Given the description of an element on the screen output the (x, y) to click on. 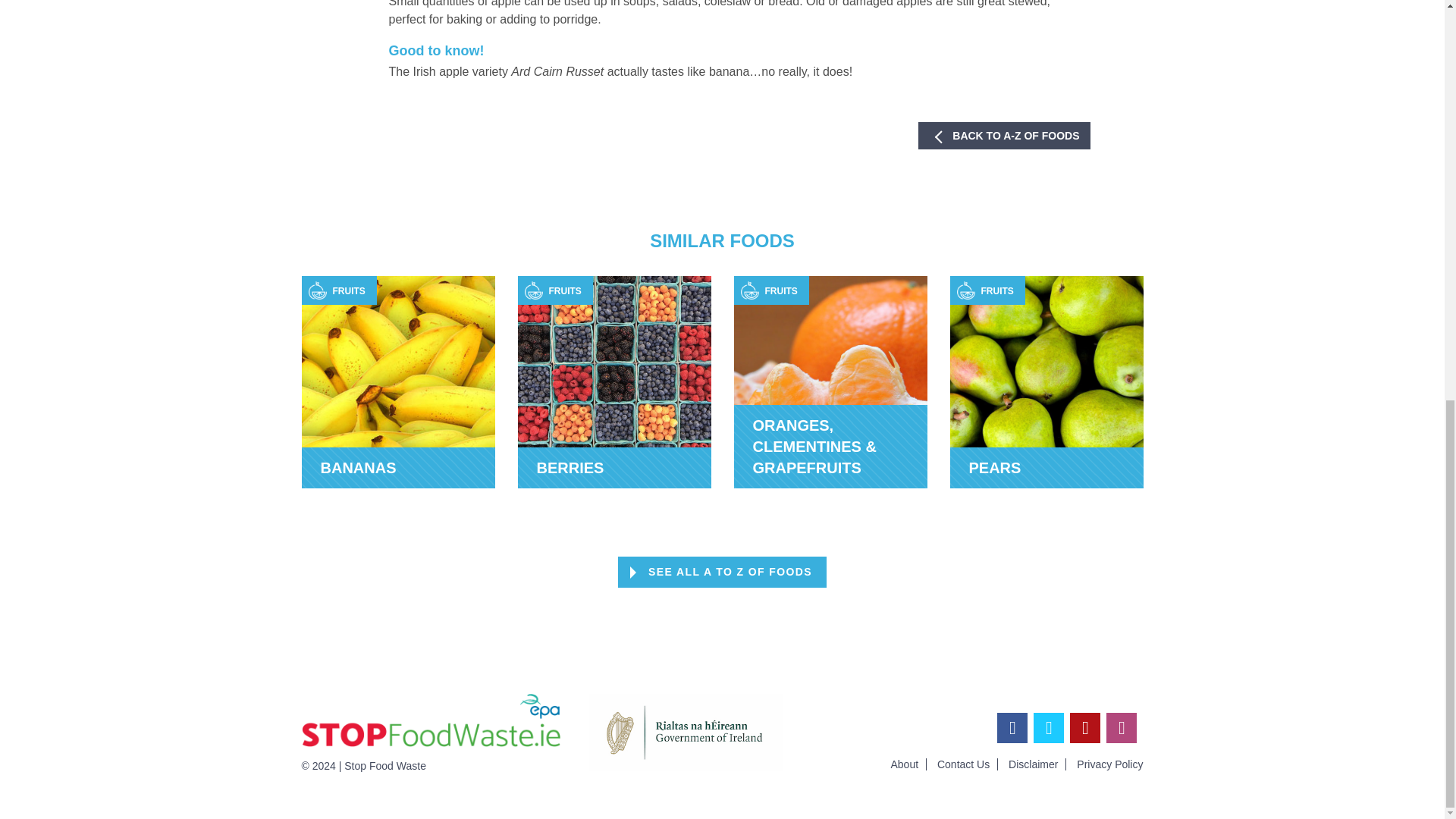
Privacy Policy (1109, 764)
About (907, 764)
SEE ALL A TO Z OF FOODS (722, 572)
Disclaimer (1037, 764)
Contact Us (398, 382)
BACK TO A-Z OF FOODS (967, 764)
